Given the description of an element on the screen output the (x, y) to click on. 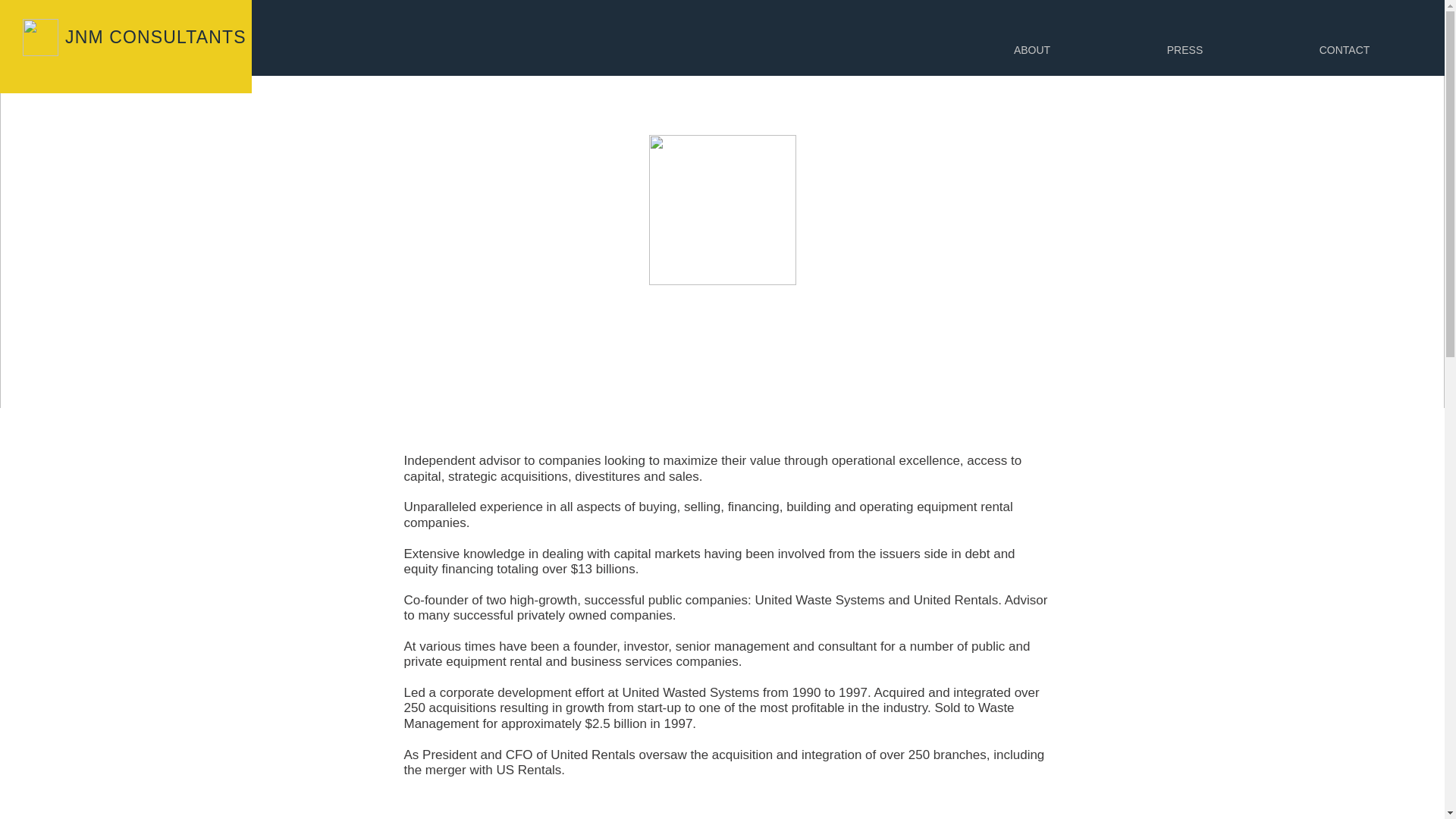
ABOUT (1031, 50)
JNM CONSULTANTS (155, 36)
CONTACT (1344, 50)
PRESS (1184, 50)
